Given the description of an element on the screen output the (x, y) to click on. 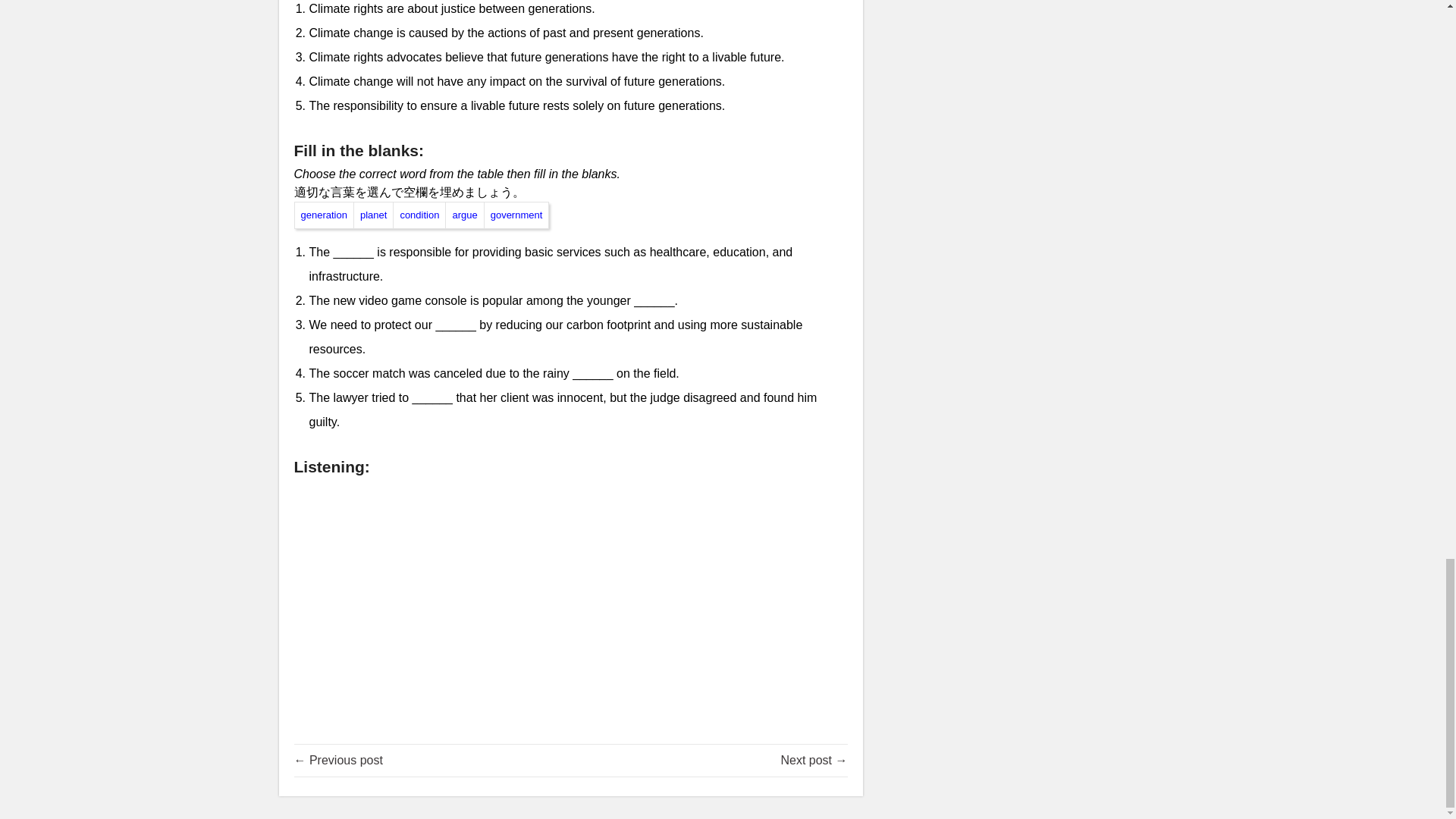
YouTube video player (570, 600)
A delicious revolution (338, 759)
